Given the description of an element on the screen output the (x, y) to click on. 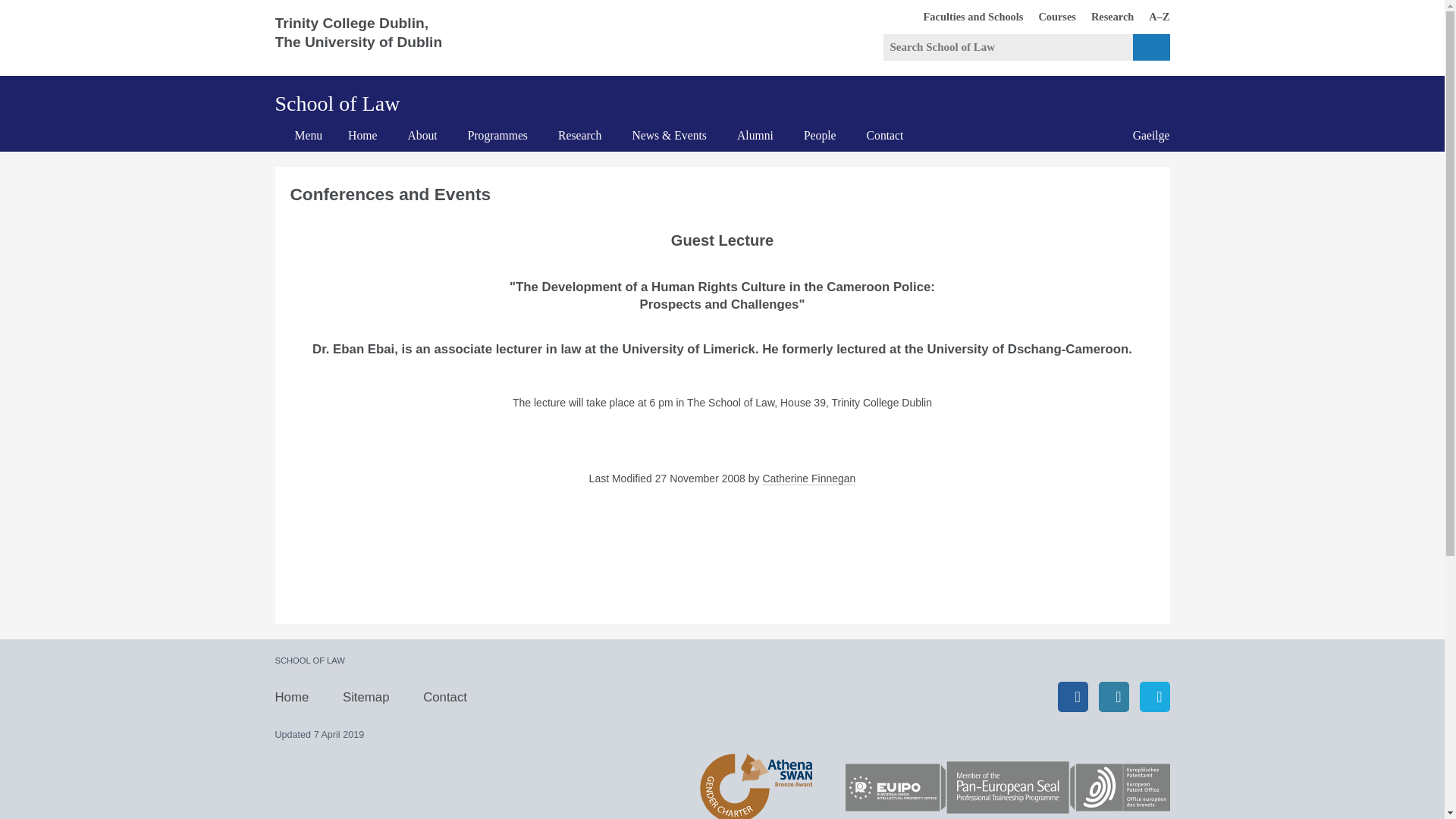
Contact (884, 135)
Go (1151, 47)
People (820, 135)
Home (362, 135)
Trinity College Dublin, The University of Dublin (370, 38)
Research (580, 135)
Faculties and Schools (965, 15)
Go (1151, 47)
About (1104, 15)
